Given the description of an element on the screen output the (x, y) to click on. 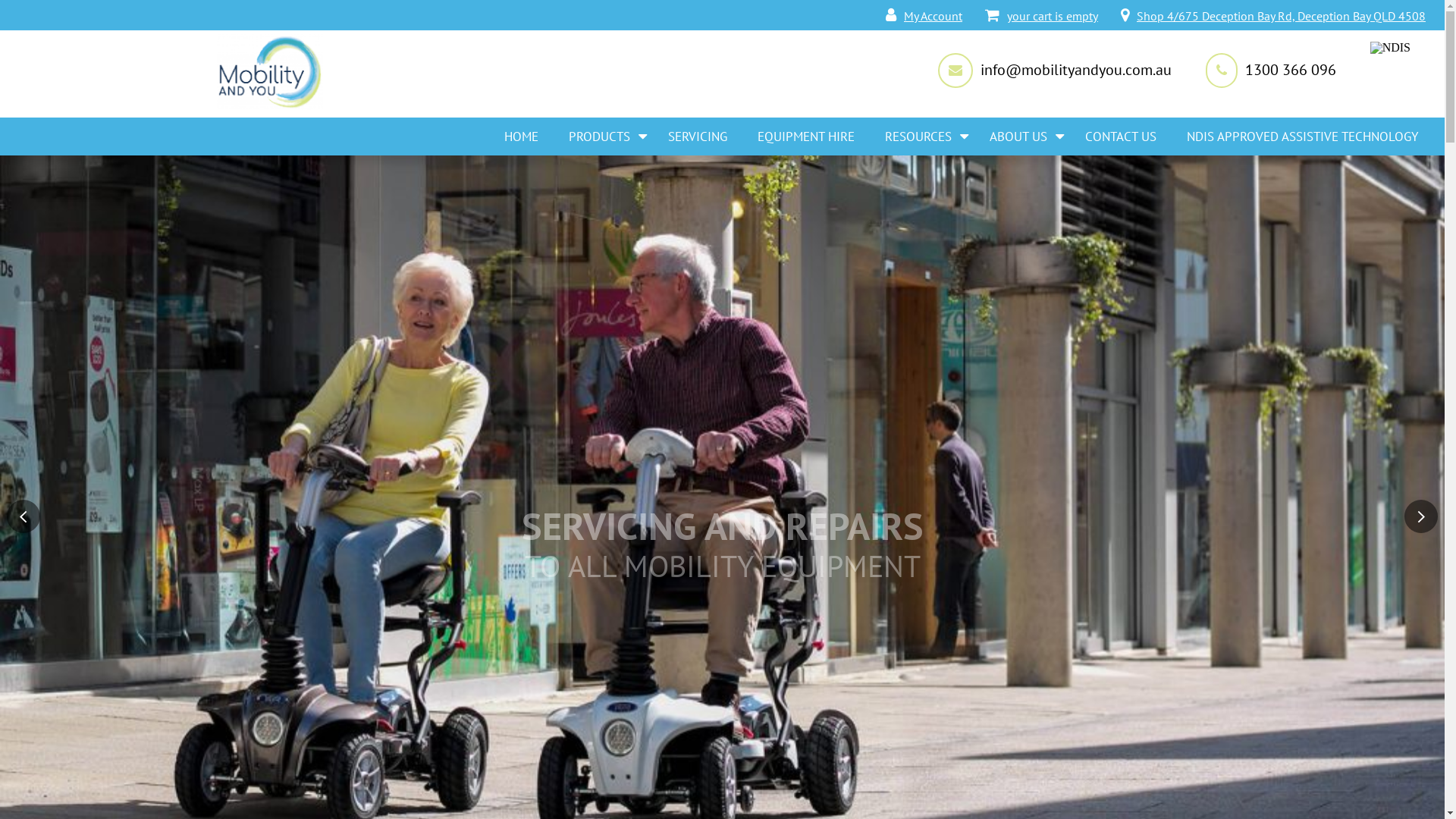
My Account Element type: text (923, 15)
SERVICING Element type: text (697, 136)
HOME Element type: text (521, 136)
EQUIPMENT HIRE Element type: text (805, 136)
your cart is empty Element type: text (1041, 15)
CONTACT US Element type: text (1120, 136)
Shop 4/675 Deception Bay Rd, Deception Bay QLD 4508 Element type: text (1272, 15)
RESOURCES Element type: text (921, 136)
NDIS APPROVED ASSISTIVE TECHNOLOGY Element type: text (1302, 136)
ABOUT US Element type: text (1022, 136)
1300 366 096 Element type: text (1286, 69)
PRODUCTS Element type: text (602, 136)
info@mobilityandyou.com.au Element type: text (1071, 69)
